Given the description of an element on the screen output the (x, y) to click on. 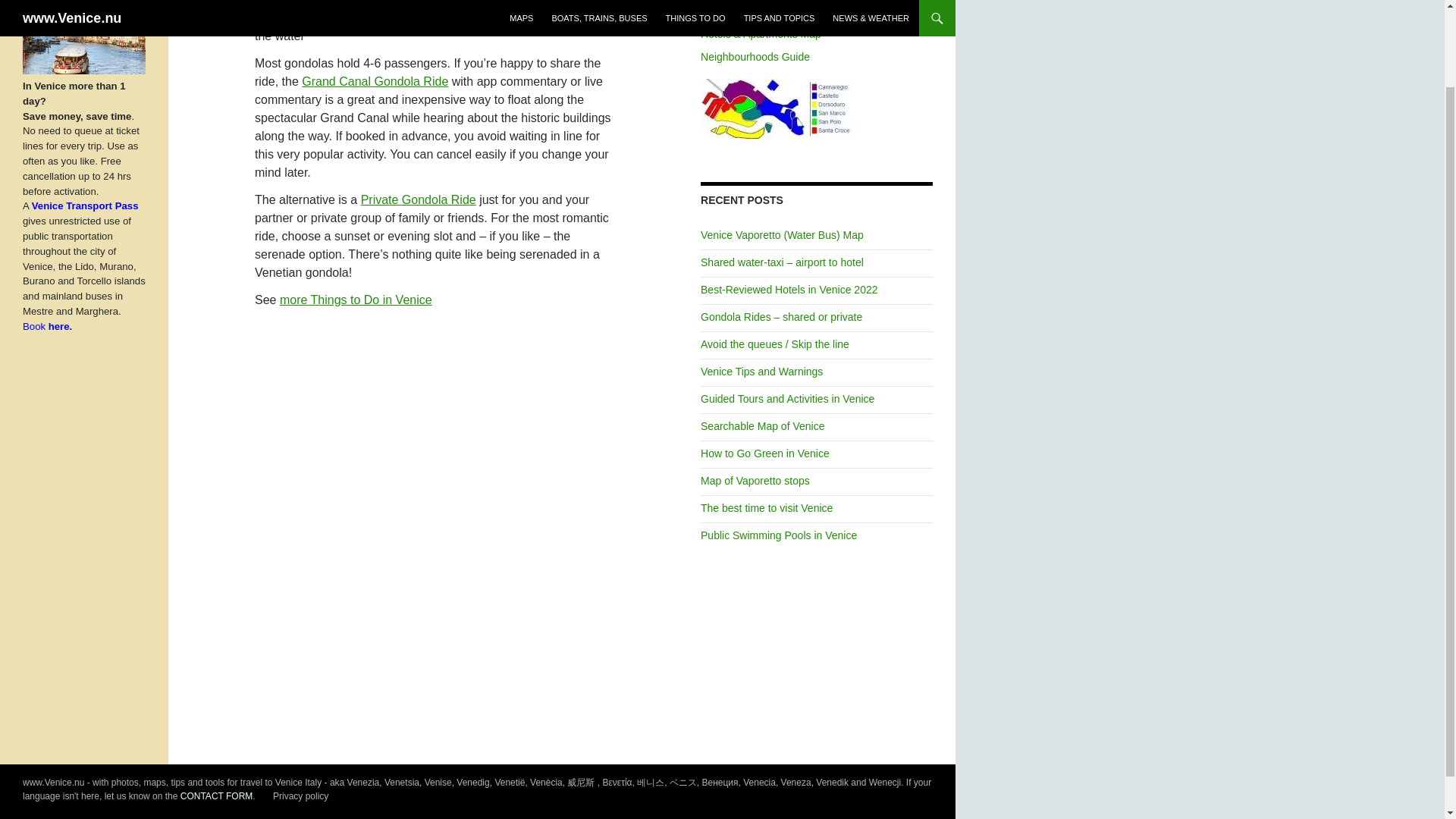
Private Gondola Ride (418, 199)
Grand Canal Gondola Ride (374, 81)
How to Go Green in Venice (764, 453)
CONTACT FORM (216, 796)
Searchable Map of Venice (762, 426)
Venice Tips and Warnings (761, 371)
Venice Transport Pass (85, 205)
Guided Tours and Activities in Venice (787, 398)
more Things to Do in Venice (355, 299)
www.Venice.nu (53, 782)
